Given the description of an element on the screen output the (x, y) to click on. 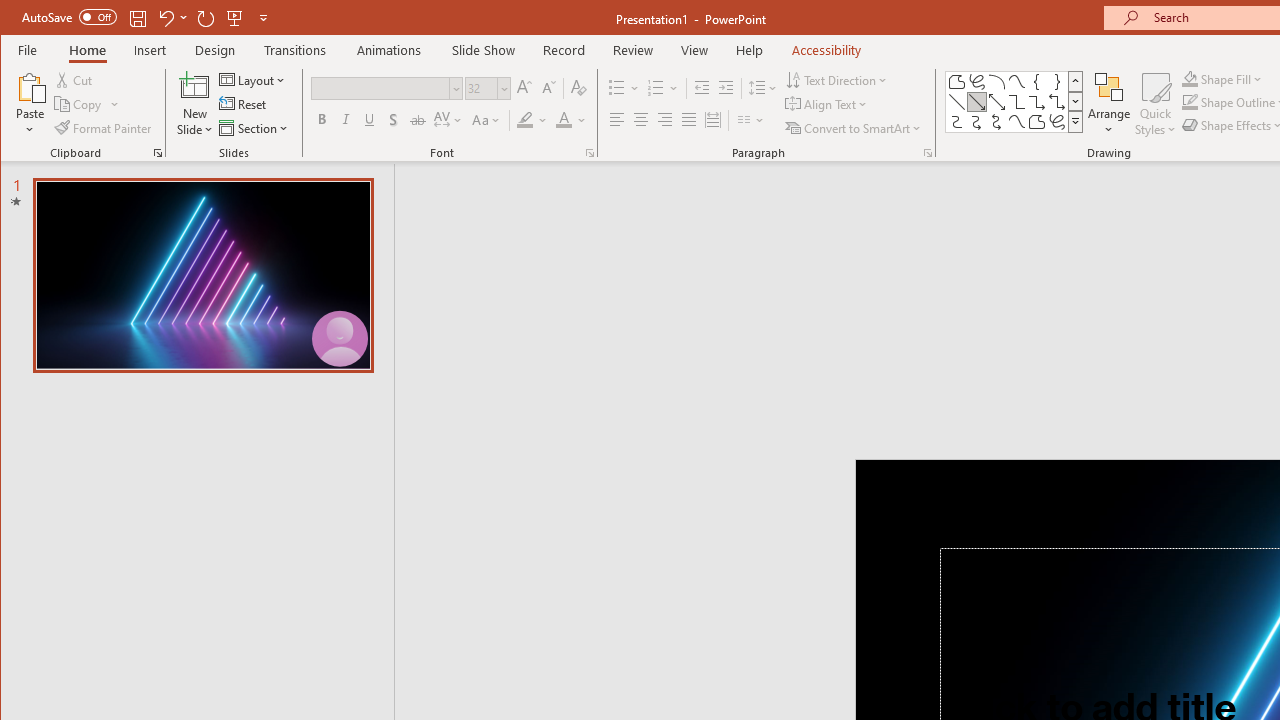
Connector: Elbow Double-Arrow (1057, 102)
